Given the description of an element on the screen output the (x, y) to click on. 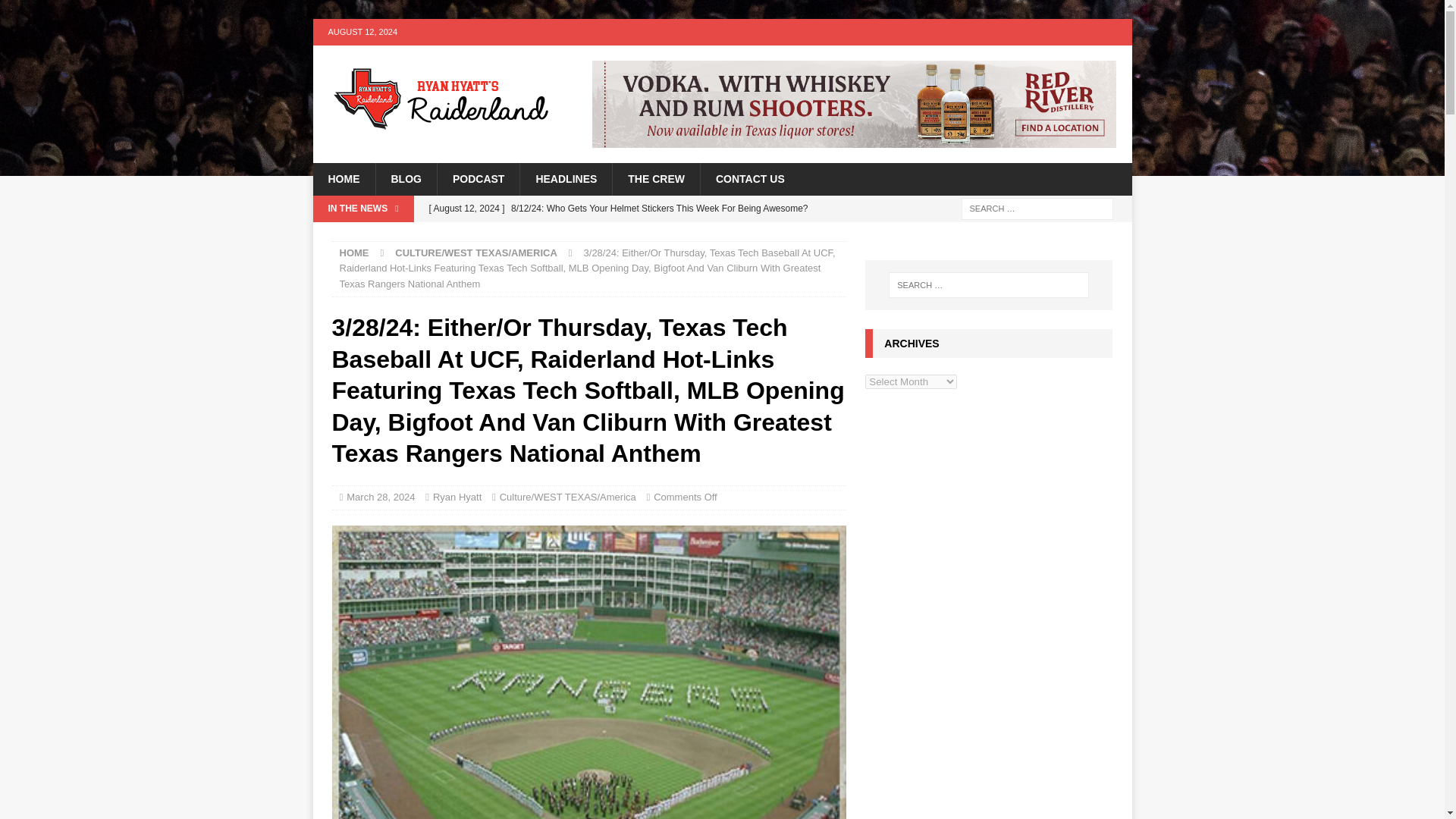
THE CREW (655, 178)
BLOG (404, 178)
Search (56, 11)
HOME (343, 178)
PODCAST (477, 178)
Ryan Hyatt (456, 496)
March 28, 2024 (380, 496)
HOME (354, 252)
CONTACT US (749, 178)
